Given the description of an element on the screen output the (x, y) to click on. 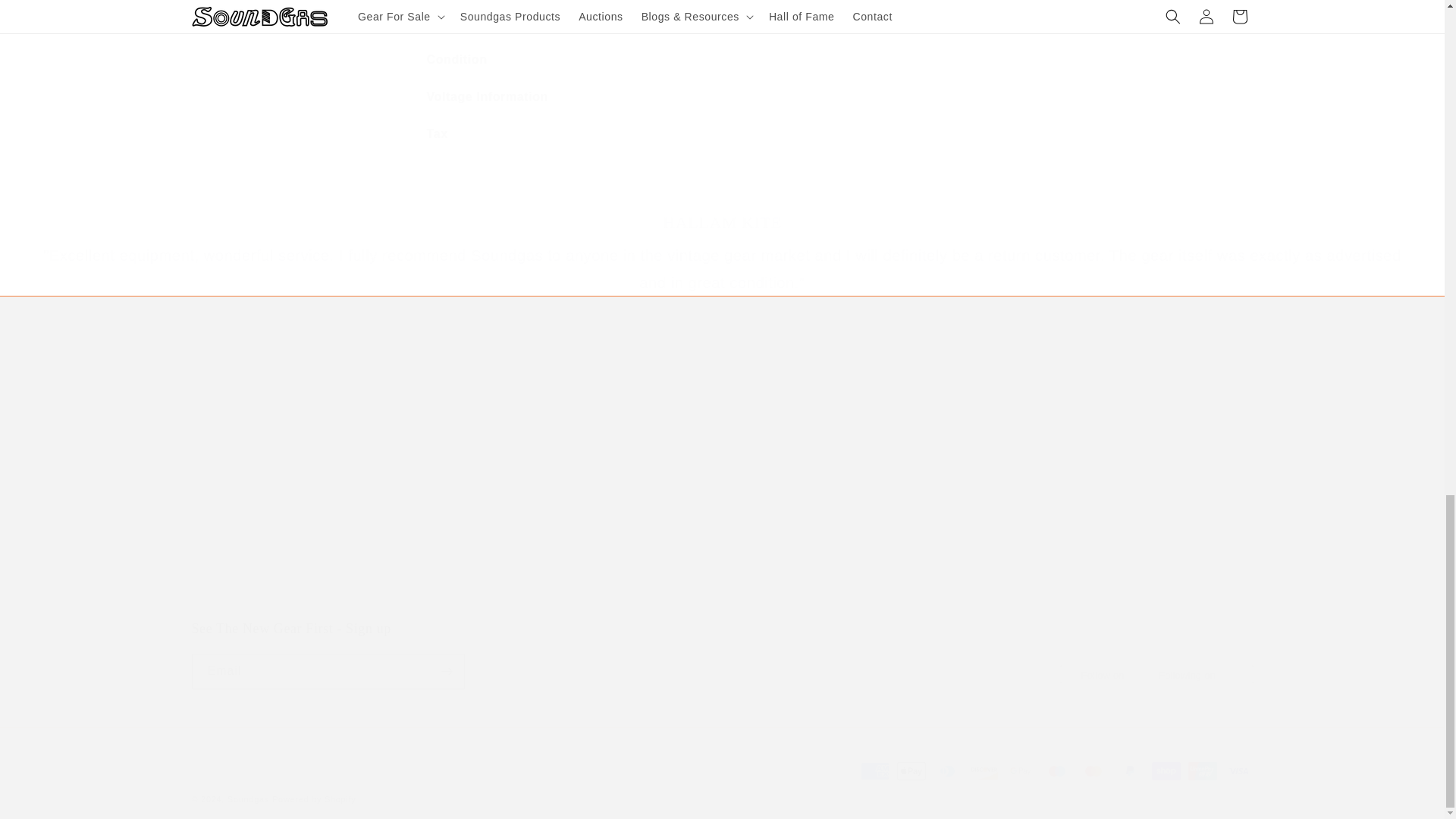
Tax (721, 134)
Voltage Information (721, 653)
Condition (721, 97)
